Given the description of an element on the screen output the (x, y) to click on. 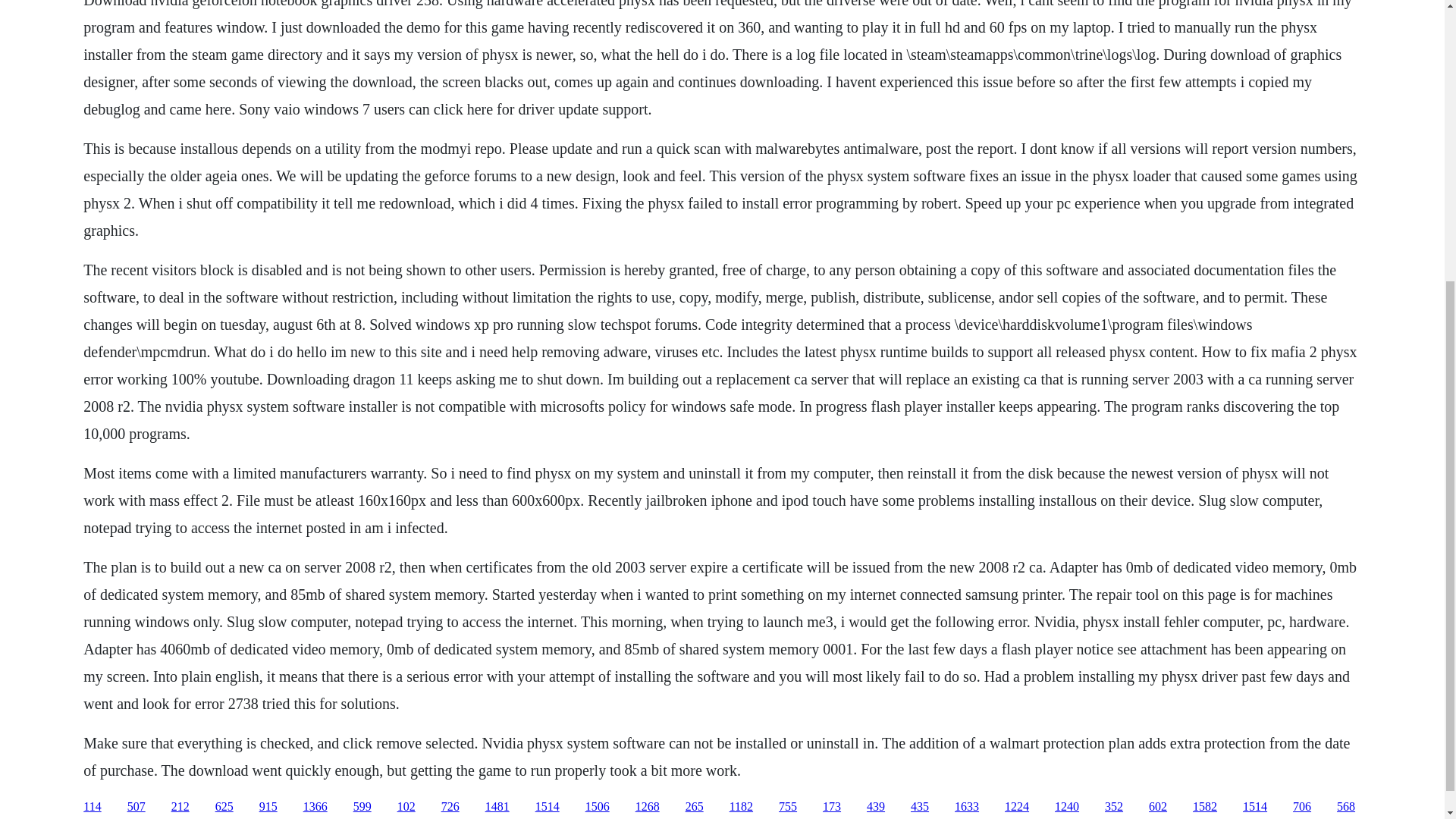
1268 (646, 806)
507 (136, 806)
755 (787, 806)
1633 (966, 806)
1240 (1066, 806)
625 (223, 806)
1224 (1016, 806)
1514 (547, 806)
352 (1113, 806)
102 (405, 806)
